Given the description of an element on the screen output the (x, y) to click on. 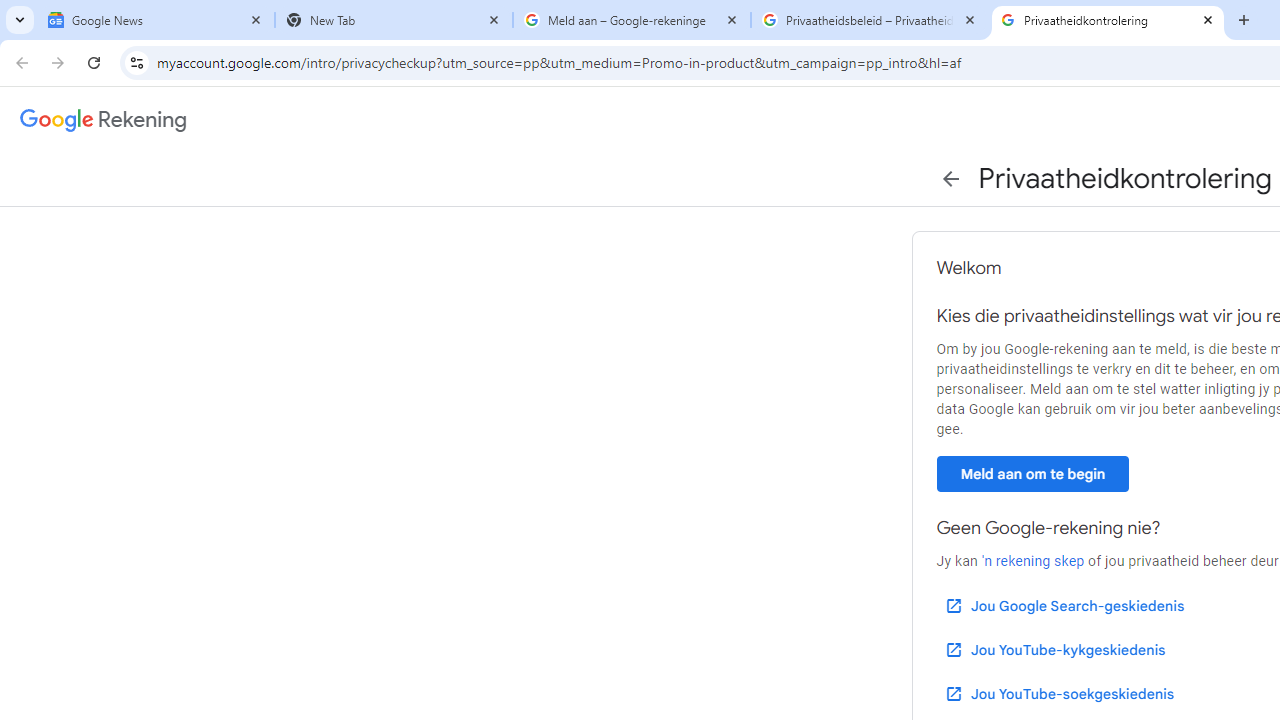
'n rekening skep (1032, 561)
Jou Google Search-geskiedenis (1063, 606)
Privaatheidkontrolering (1108, 20)
